Given the description of an element on the screen output the (x, y) to click on. 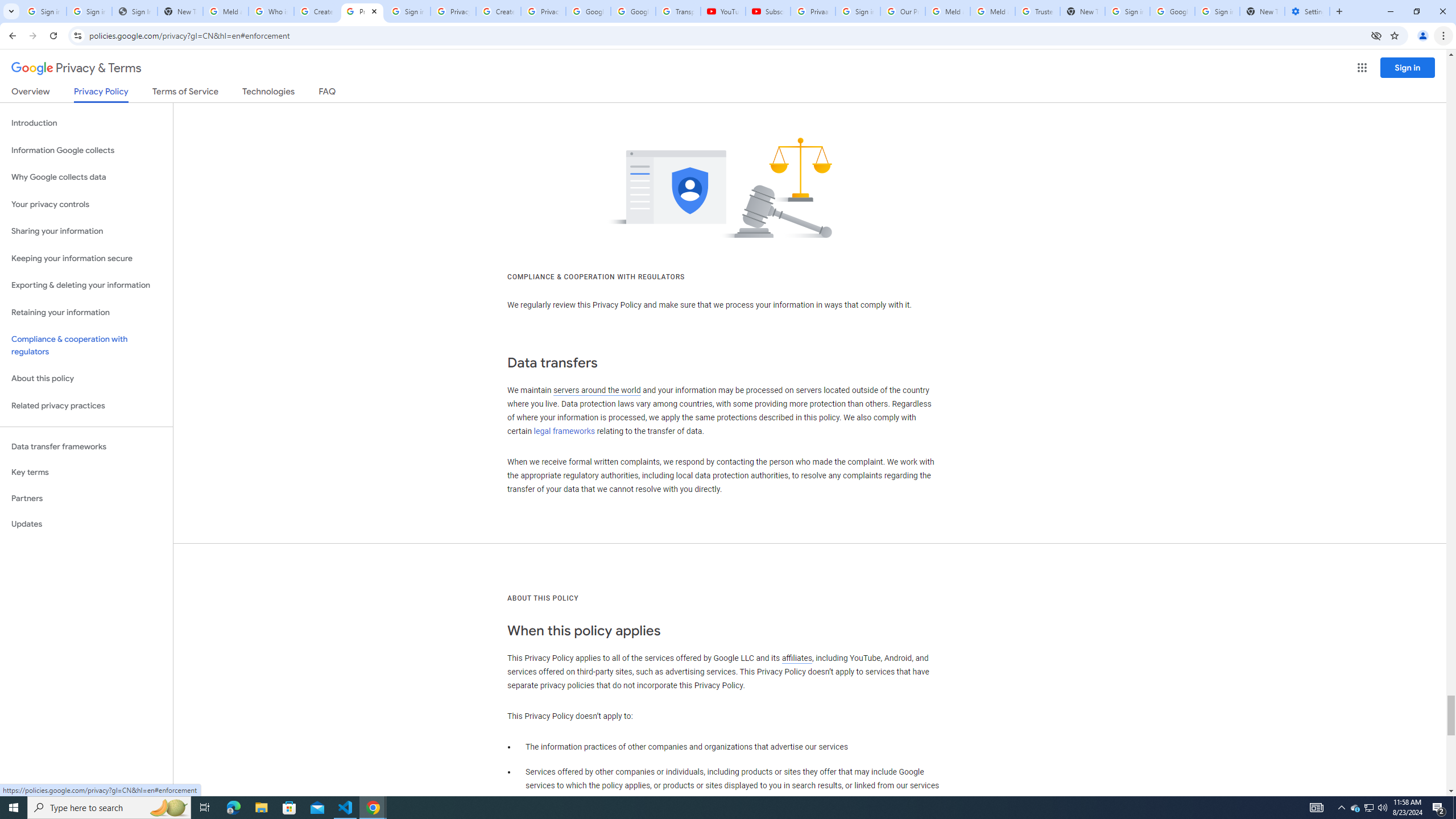
servers around the world (596, 389)
YouTube (723, 11)
Data transfer frameworks (86, 446)
Sign In - USA TODAY (134, 11)
Sign in - Google Accounts (88, 11)
Information Google collects (86, 150)
